Given the description of an element on the screen output the (x, y) to click on. 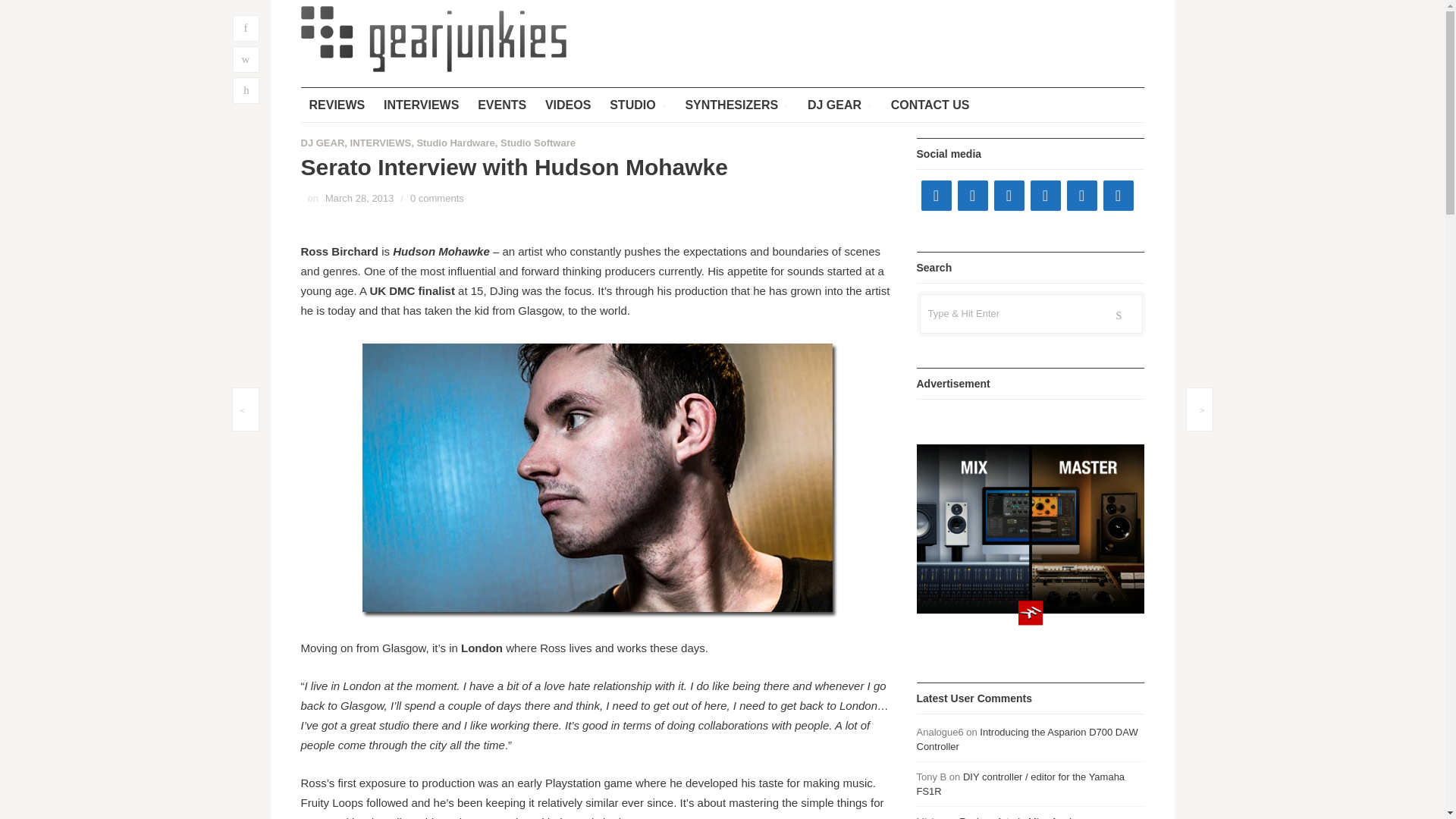
SYNTHESIZERS (736, 104)
CONTACT US (930, 104)
DJ GEAR (839, 104)
Studio Hardware (455, 142)
INTERVIEWS (381, 142)
0 comments (437, 197)
Permalink to Serato Interview with Hudson Mohawke (358, 197)
March 28, 2013 (358, 197)
Facebook (935, 195)
Studio Software (537, 142)
